Given the description of an element on the screen output the (x, y) to click on. 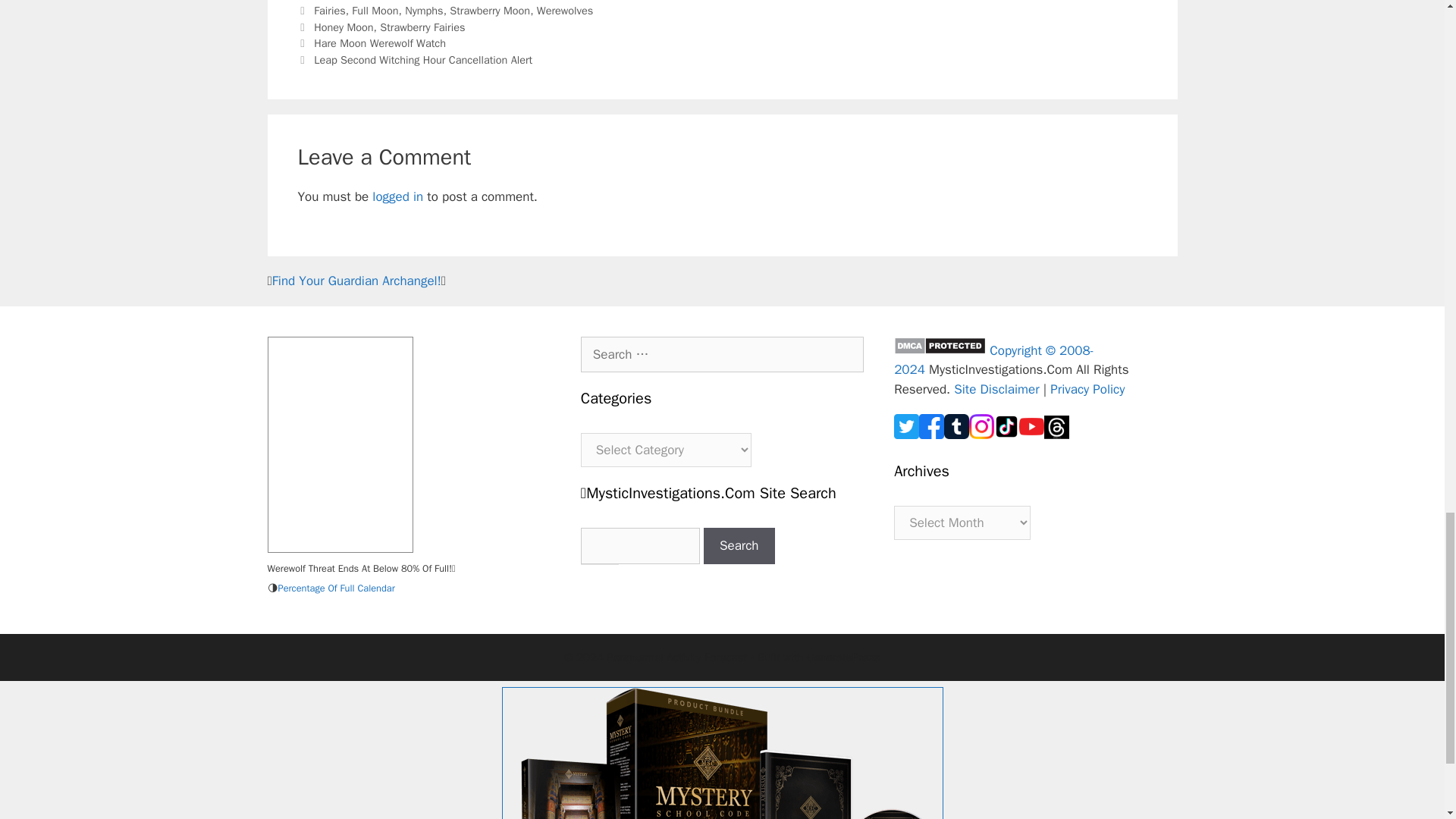
DMCA.com Protection Status (939, 350)
Search (738, 545)
Search for: (721, 354)
